Given the description of an element on the screen output the (x, y) to click on. 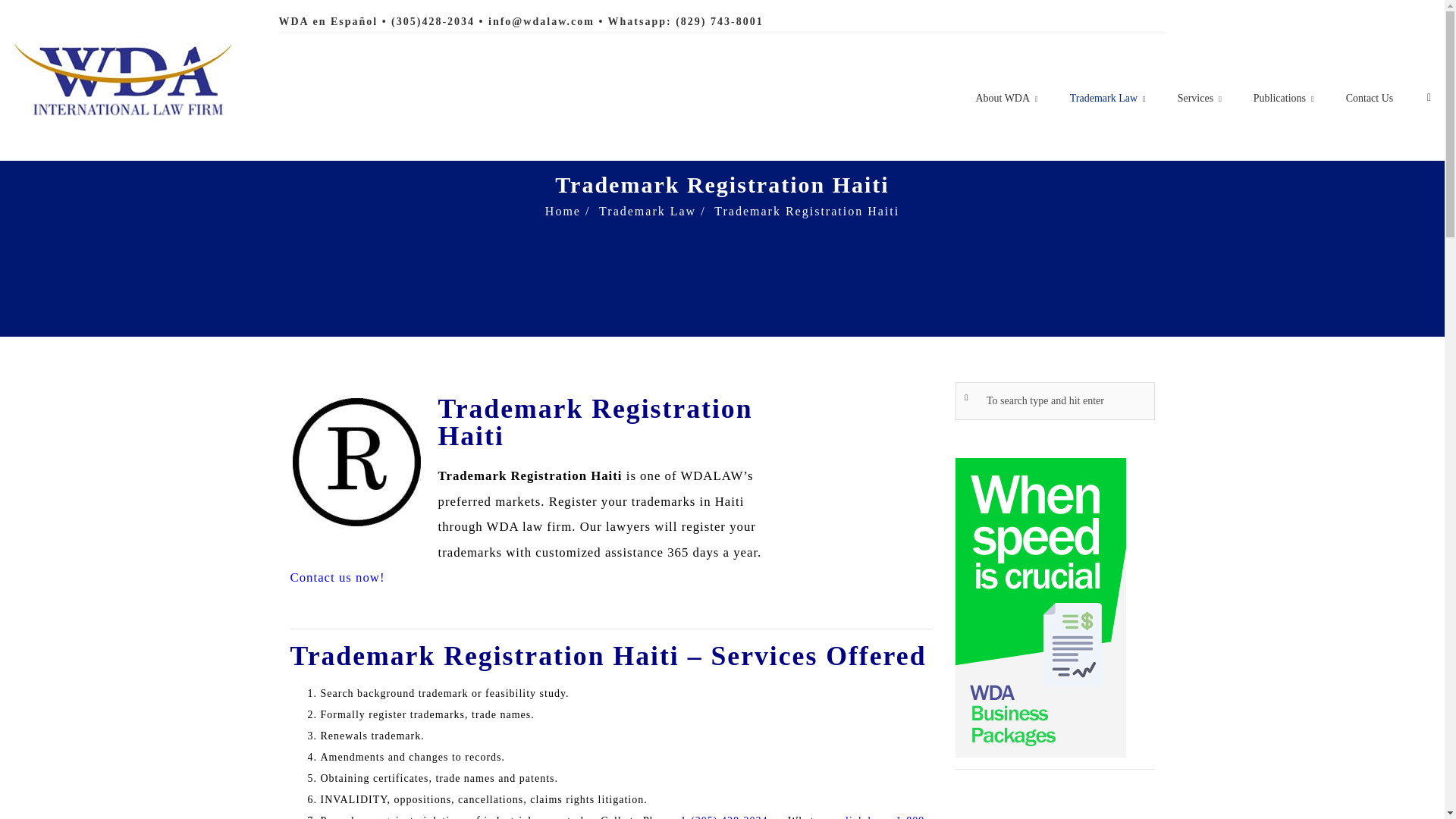
click here (864, 816)
Home (562, 210)
Home (562, 210)
Trademark Law (646, 210)
Trademark Law (646, 210)
Contact us now! (336, 577)
Trademark Law (1107, 98)
